Given the description of an element on the screen output the (x, y) to click on. 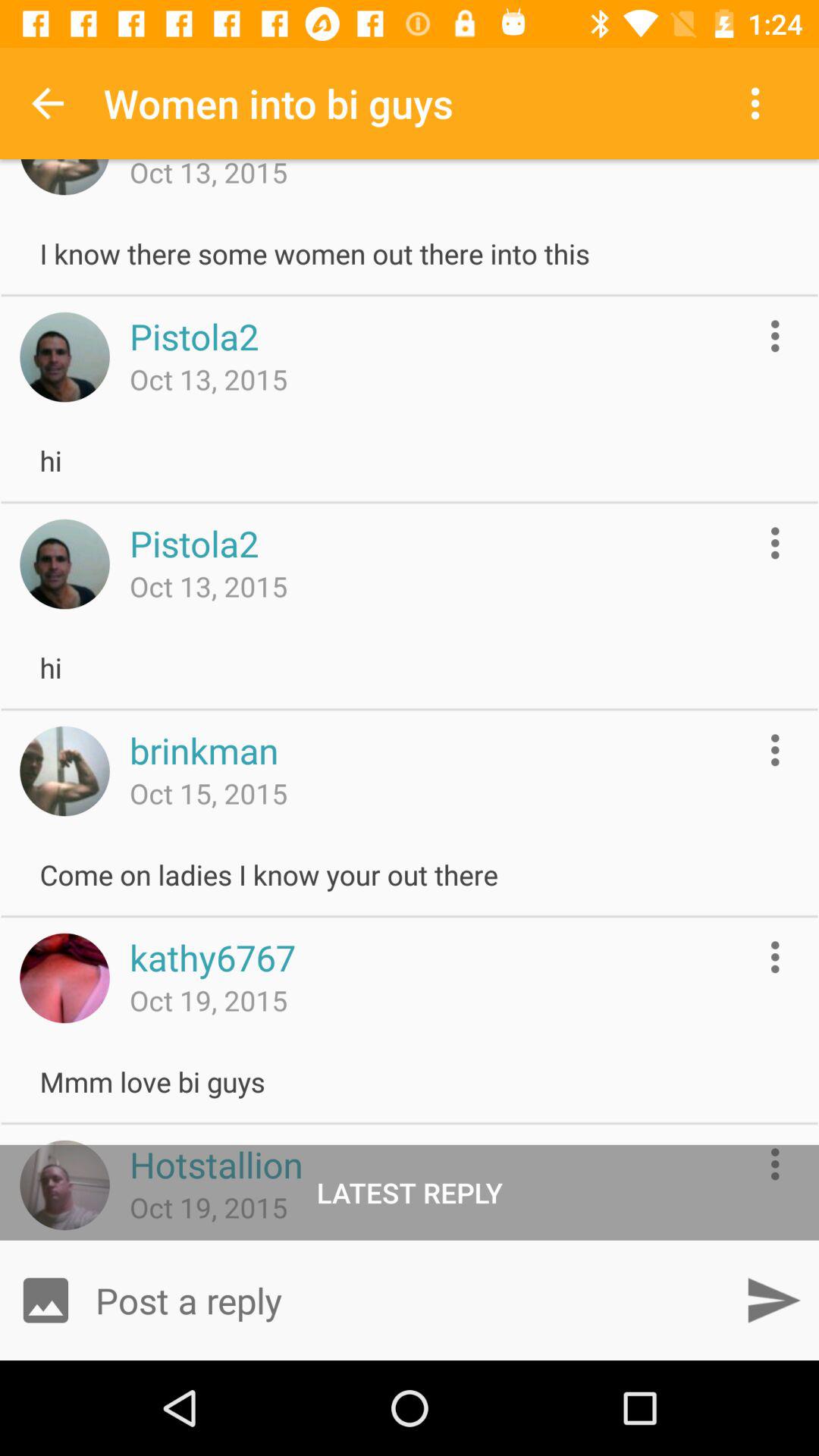
add a photo (45, 1300)
